Given the description of an element on the screen output the (x, y) to click on. 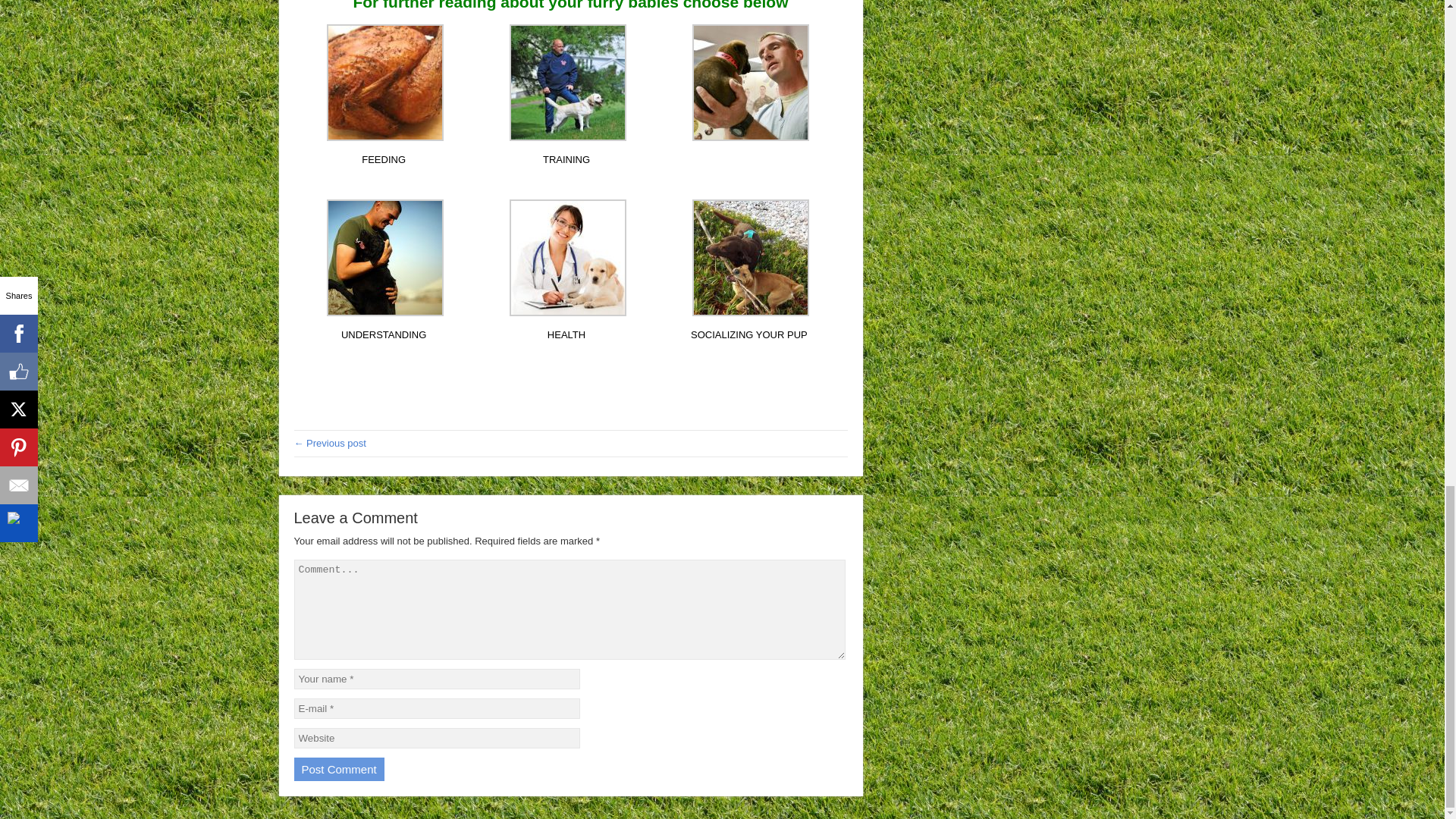
How To Introduce A Cat To A Dog (330, 442)
Post Comment (339, 769)
Post Comment (339, 769)
